Given the description of an element on the screen output the (x, y) to click on. 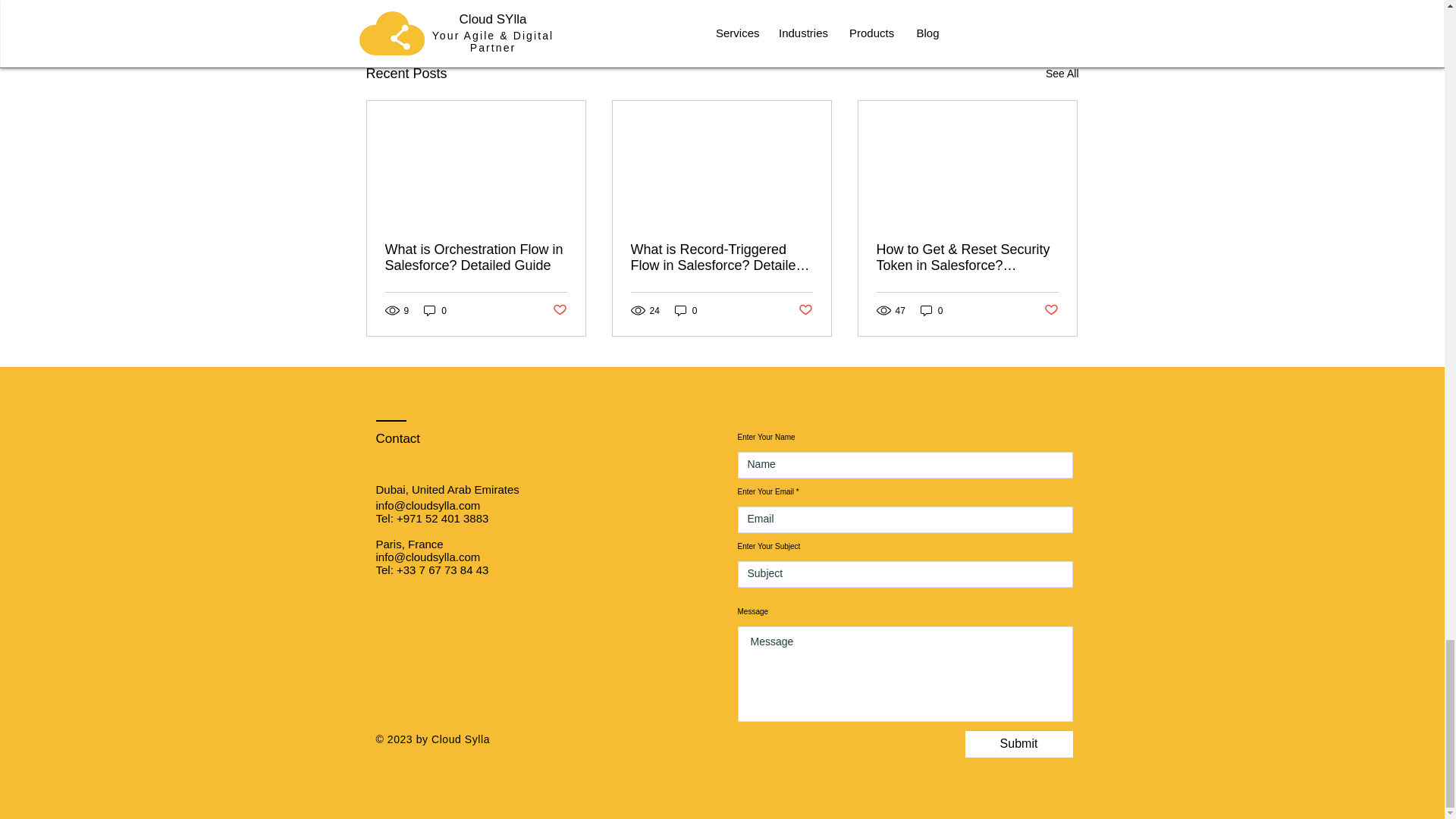
What is Orchestration Flow in Salesforce? Detailed Guide (476, 257)
Post not marked as liked (558, 310)
0 (435, 310)
See All (1061, 74)
